Given the description of an element on the screen output the (x, y) to click on. 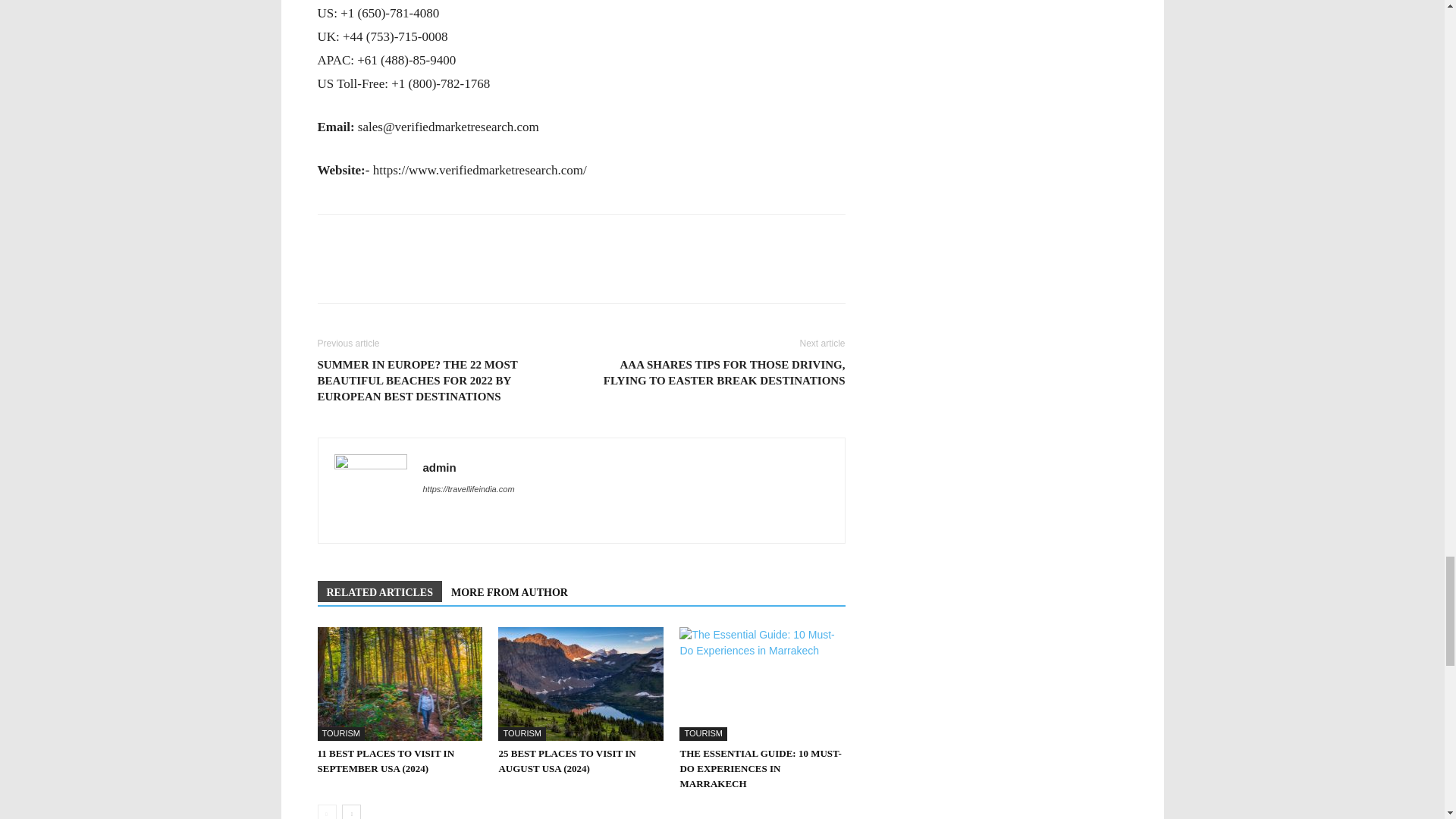
bottomFacebookLike (430, 238)
